Given the description of an element on the screen output the (x, y) to click on. 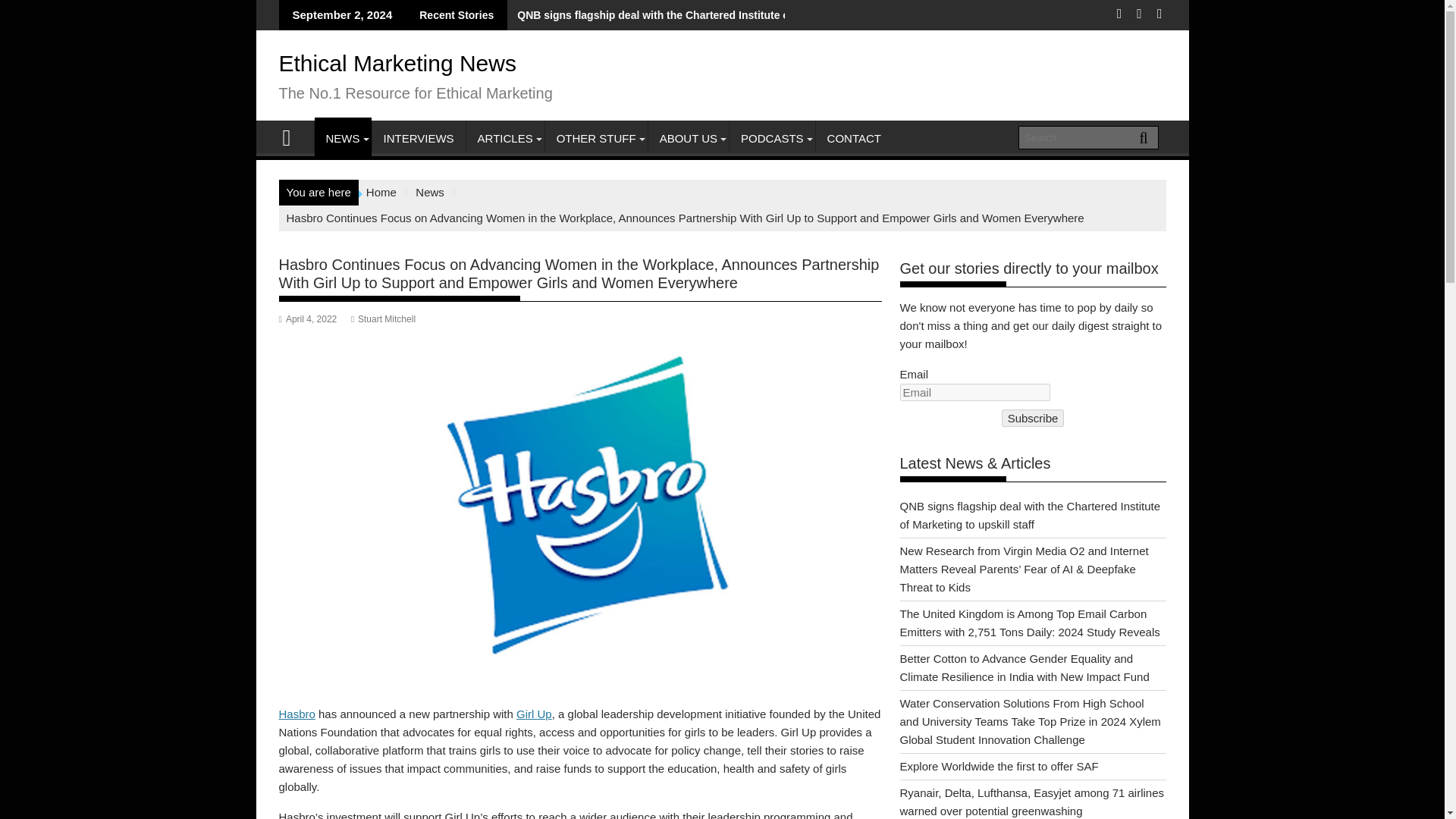
Ethical Marketing News (397, 63)
Subscribe (1032, 417)
ARTICLES (504, 138)
NEWS (342, 138)
OTHER STUFF (595, 138)
ABOUT US (688, 138)
